Given the description of an element on the screen output the (x, y) to click on. 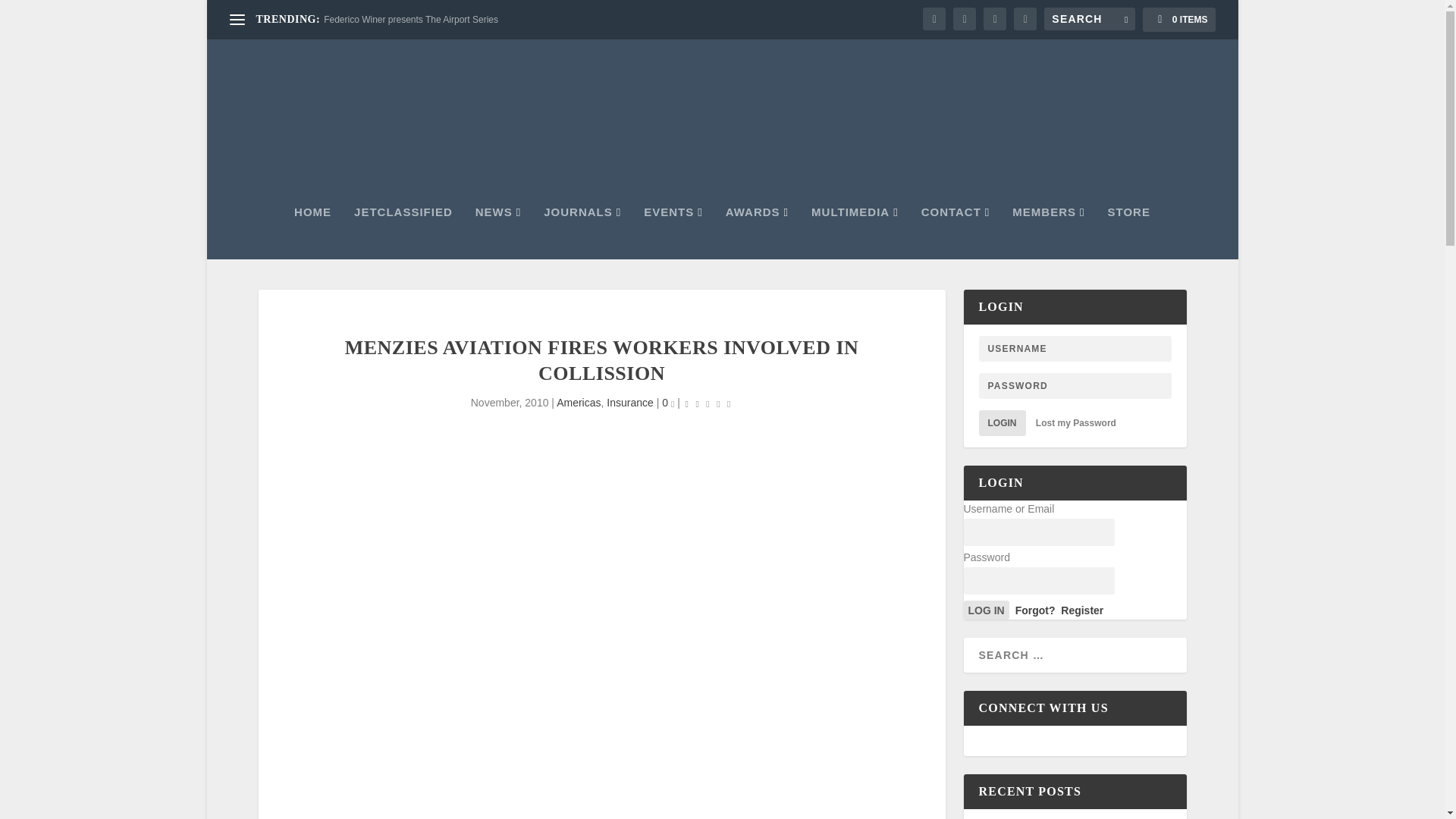
JETCLASSIFIED (402, 232)
JOURNALS (582, 232)
log in (985, 609)
Federico Winer presents The Airport Series (410, 19)
Rating: 0.00 (707, 403)
